Given the description of an element on the screen output the (x, y) to click on. 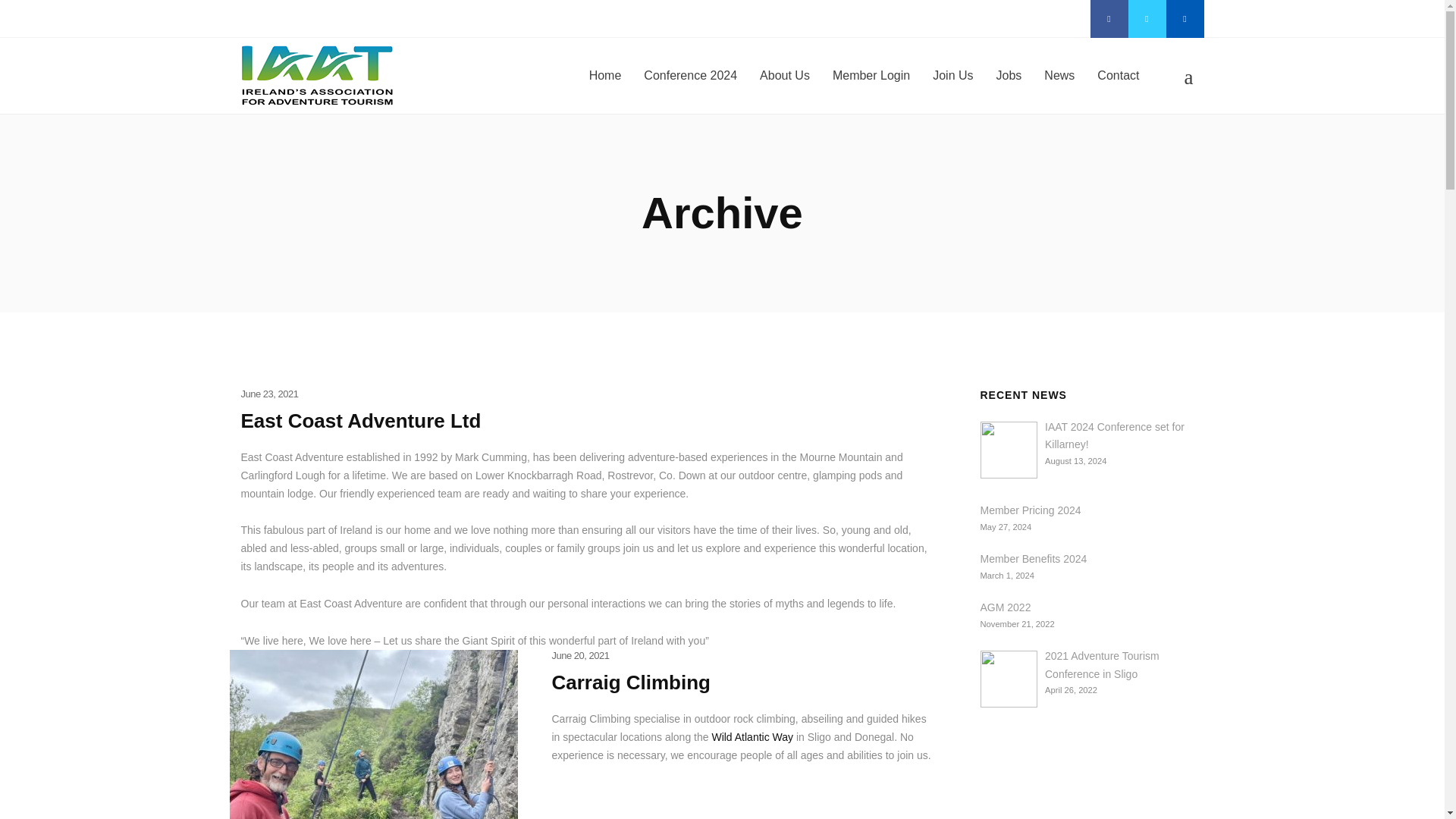
Jobs (1009, 75)
Contact (1118, 75)
Home (605, 75)
Join Us (952, 75)
East Coast Adventure Ltd (361, 420)
June 23, 2021 (269, 393)
News (1059, 75)
Conference 2024 (689, 75)
About Us (784, 75)
Member Login (871, 75)
